Given the description of an element on the screen output the (x, y) to click on. 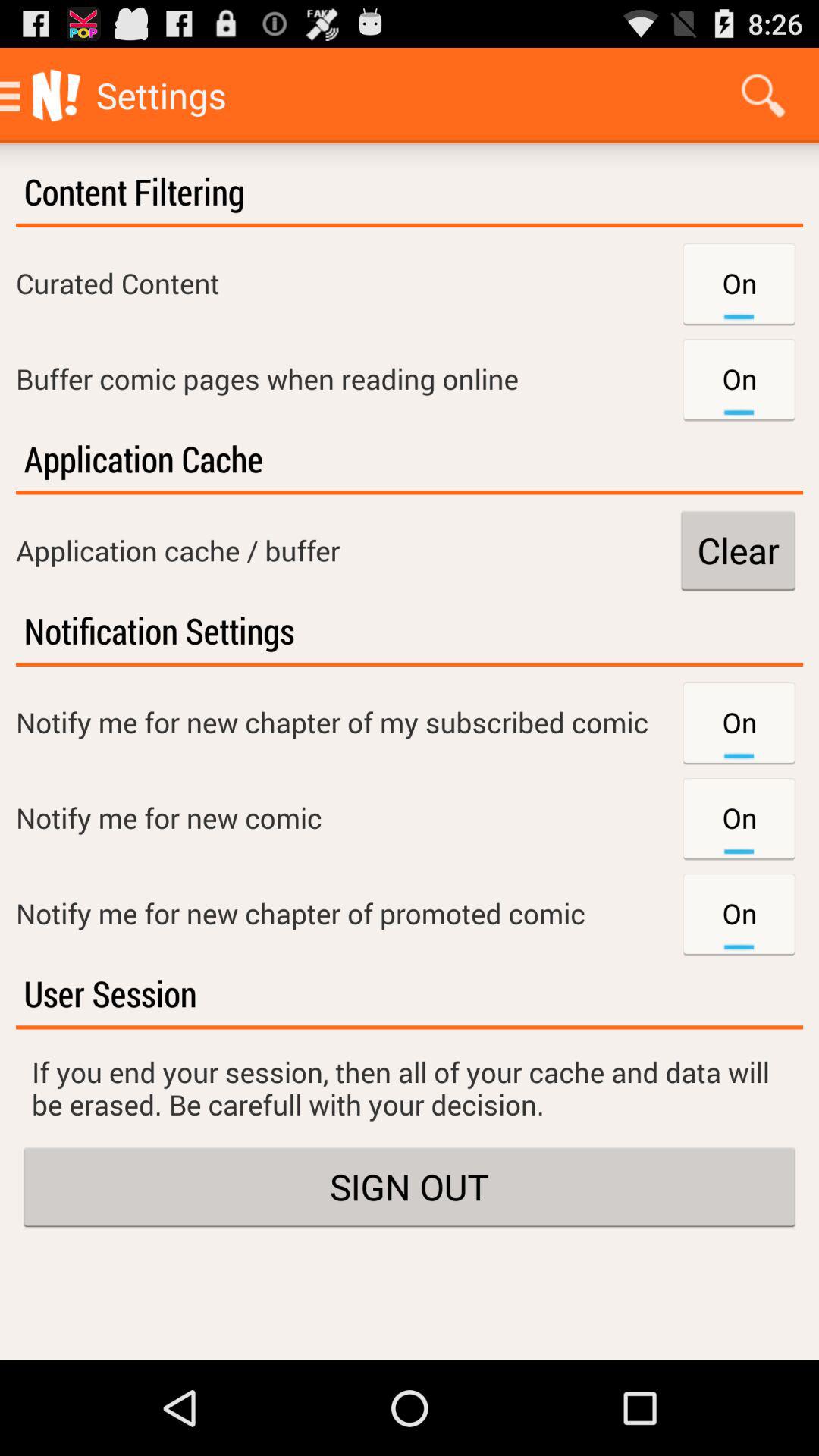
jump until the clear item (738, 550)
